Given the description of an element on the screen output the (x, y) to click on. 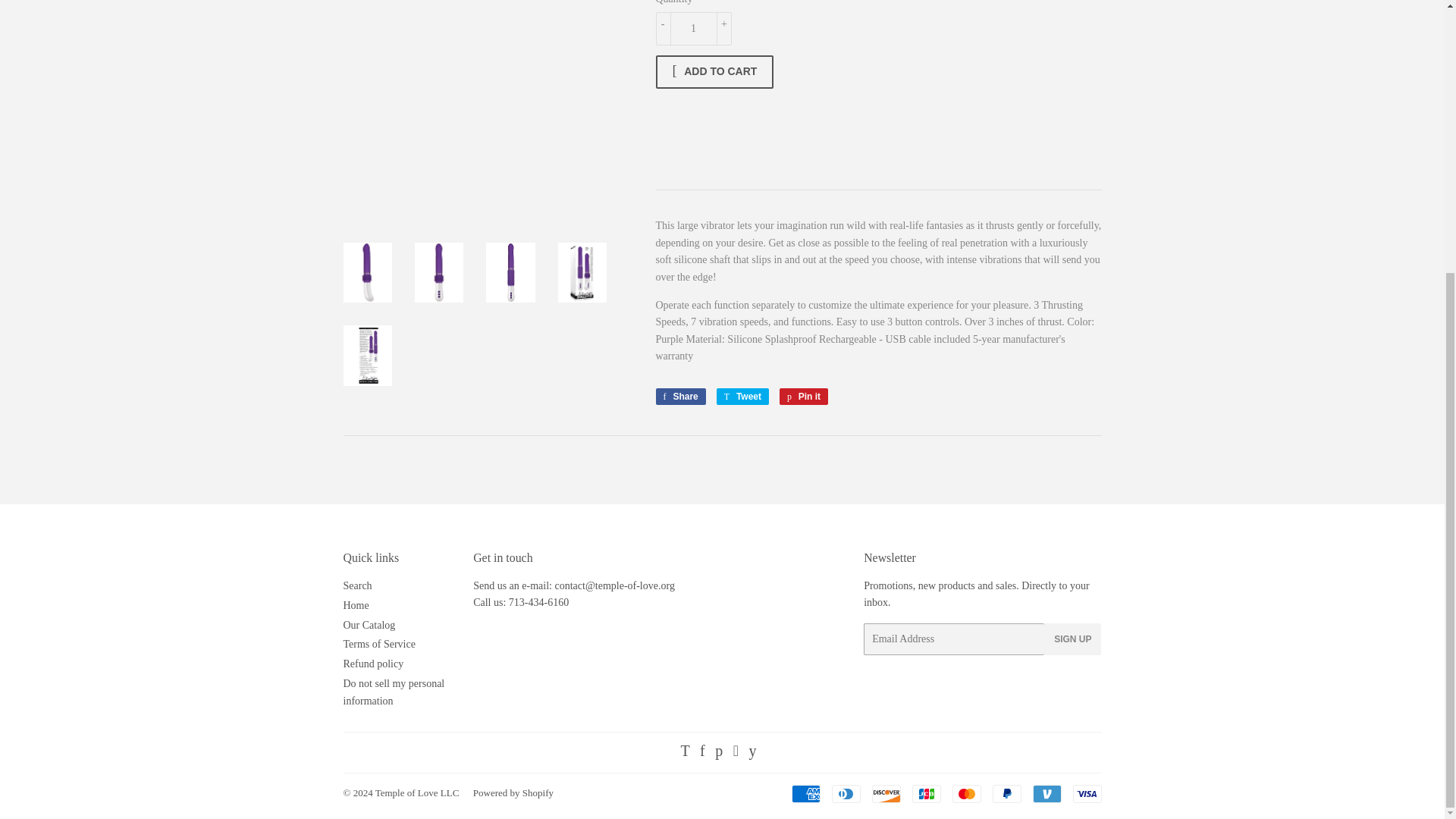
Tweet on Twitter (742, 396)
Pin on Pinterest (803, 396)
JCB (925, 793)
Mastercard (966, 793)
1 (692, 28)
Venmo (1046, 793)
American Express (806, 793)
Visa (1085, 793)
Share on Facebook (679, 396)
Discover (886, 793)
